Given the description of an element on the screen output the (x, y) to click on. 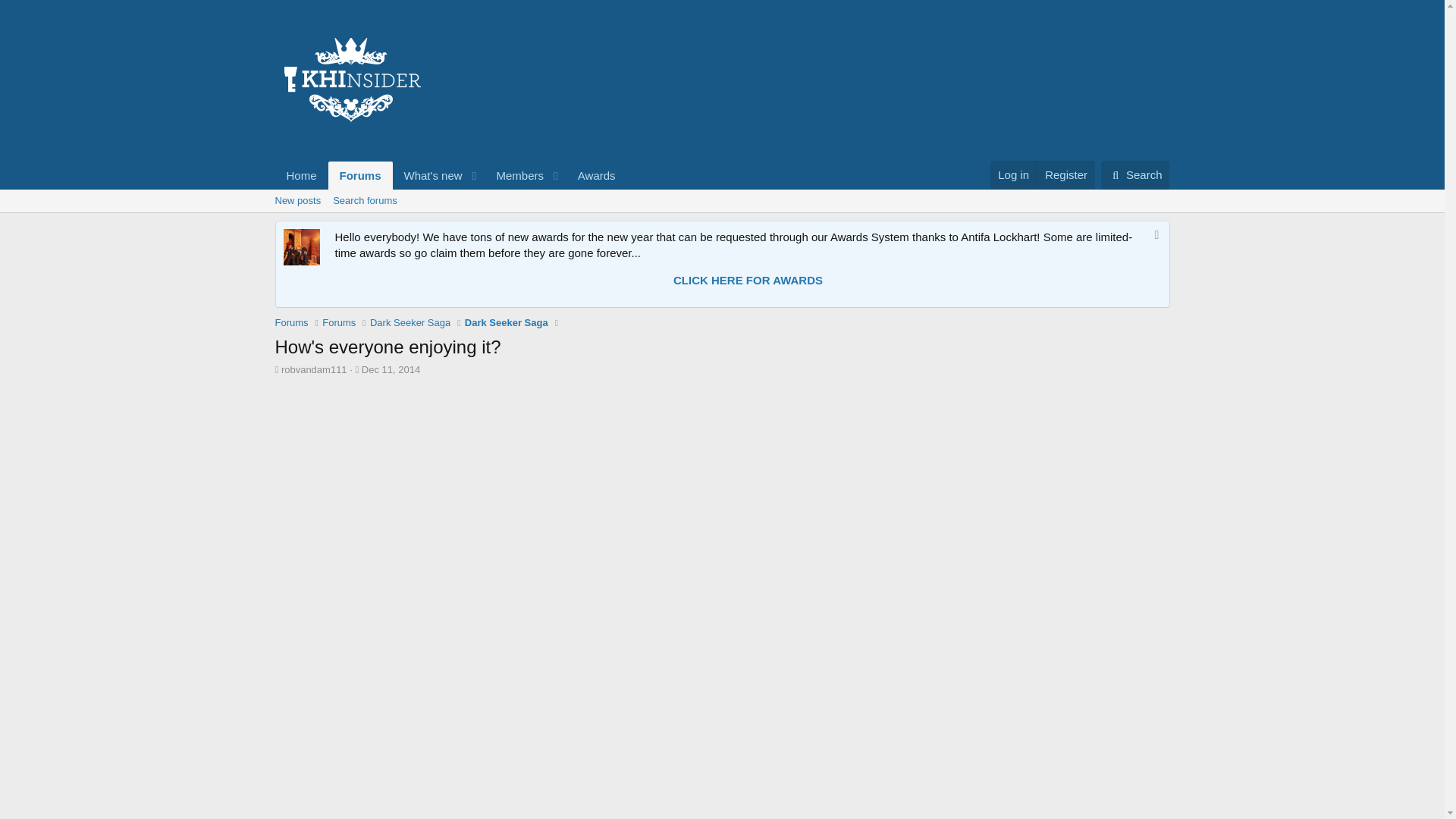
robvandam111 (314, 369)
Dark Seeker Saga (409, 322)
Register (1065, 174)
New posts (296, 200)
Forums (361, 175)
Home (301, 175)
Members (514, 175)
Forums (291, 322)
Dec 11, 2014 at 3:13 AM (390, 369)
Log in (1013, 174)
